Given the description of an element on the screen output the (x, y) to click on. 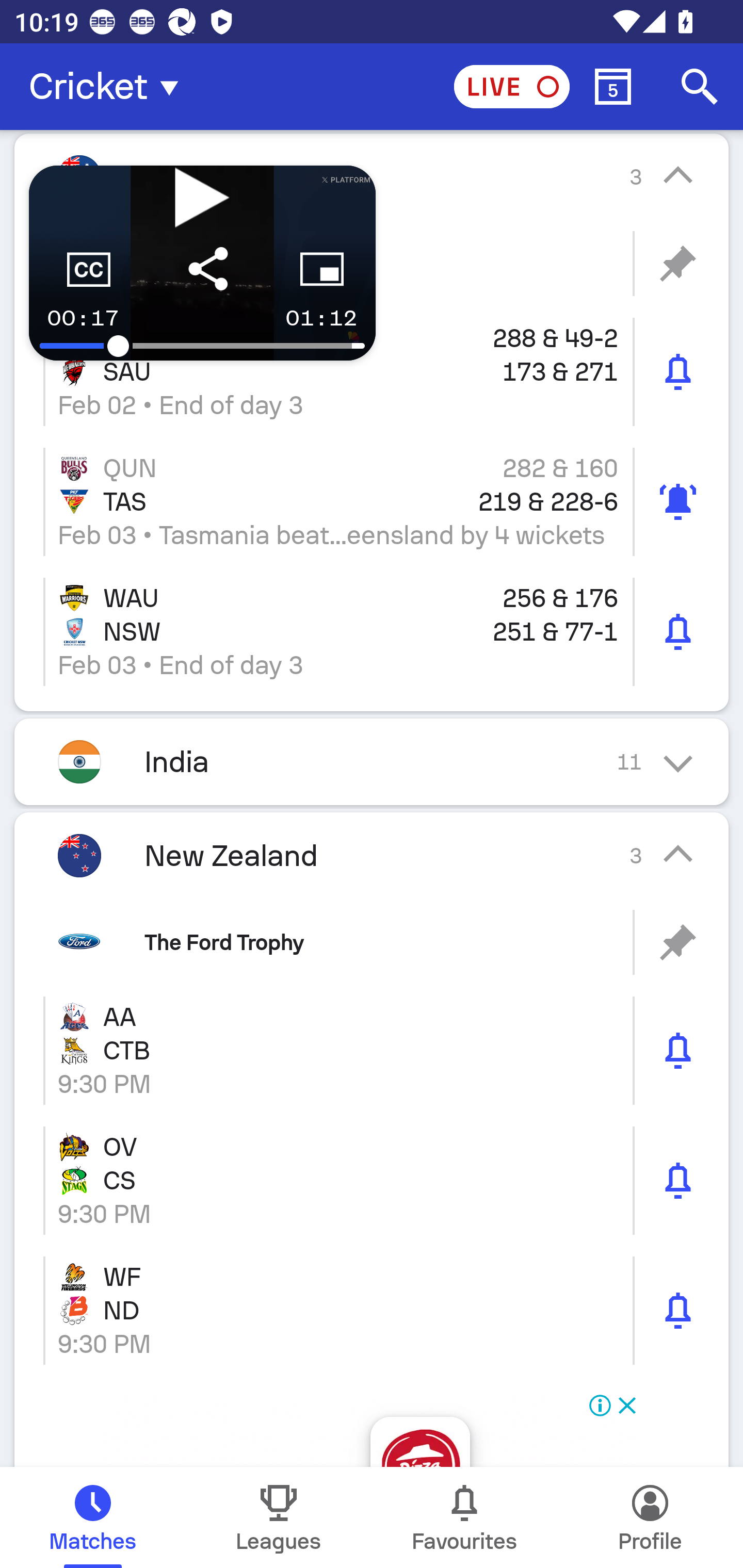
Cricket (109, 86)
Calendar (612, 86)
Search (699, 86)
WAU 256 & 176 NSW 251 & 77-1 Feb 03 • End of day 3 (371, 631)
India 11 (371, 761)
New Zealand 3 (371, 855)
The Ford Trophy (371, 942)
AA CTB 9:30 PM (371, 1051)
OV CS 9:30 PM (371, 1180)
WF ND 9:30 PM (371, 1309)
Leagues (278, 1517)
Favourites (464, 1517)
Profile (650, 1517)
